Given the description of an element on the screen output the (x, y) to click on. 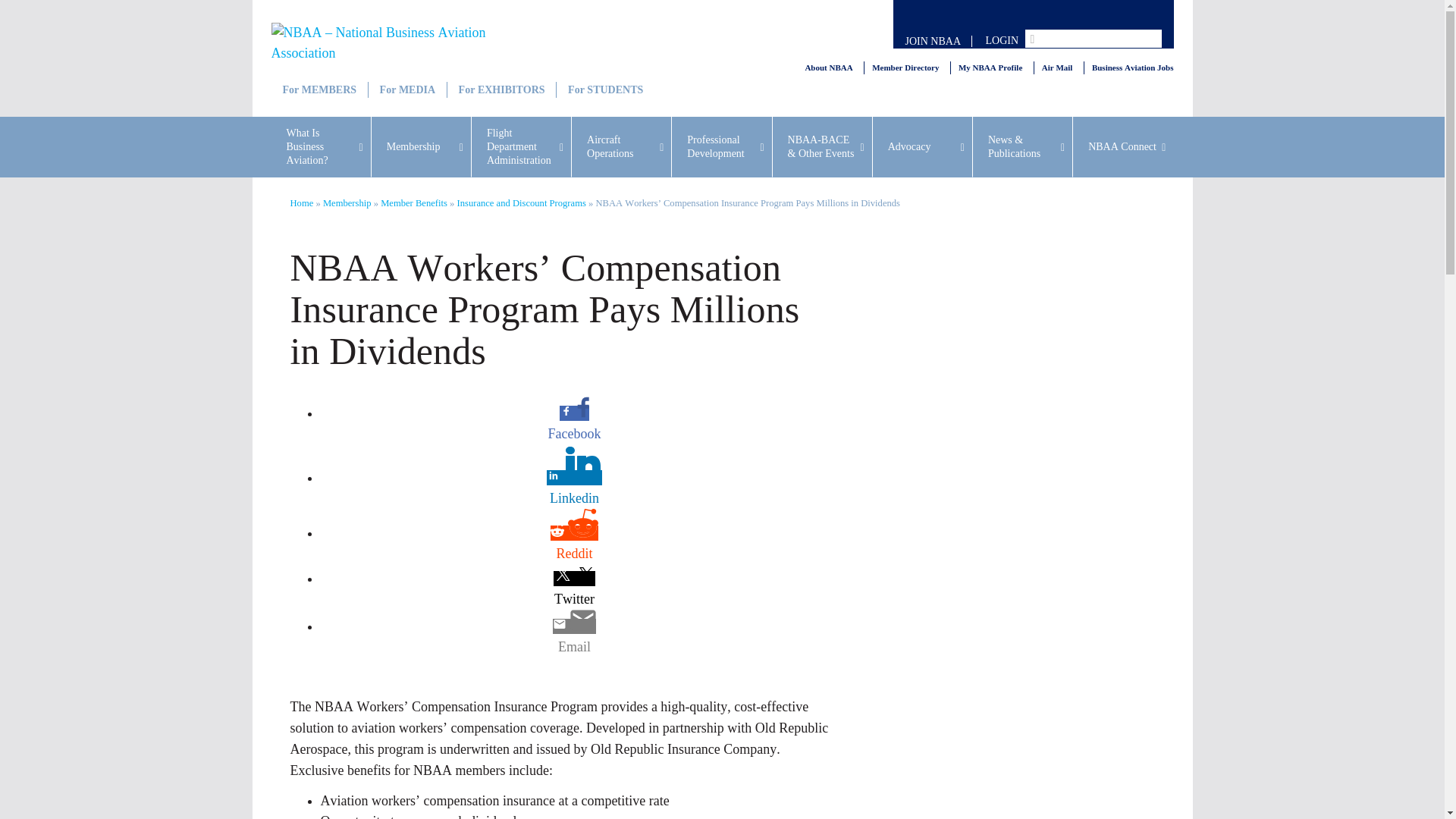
Students (603, 89)
Member Directory (905, 67)
Air Mail (1056, 67)
What Is Business Aviation? (320, 147)
Business aviation jobs (1132, 67)
Search for: (1093, 38)
About NBAA (828, 67)
Members (317, 89)
Linkedin (574, 498)
Facebook (574, 434)
